Given the description of an element on the screen output the (x, y) to click on. 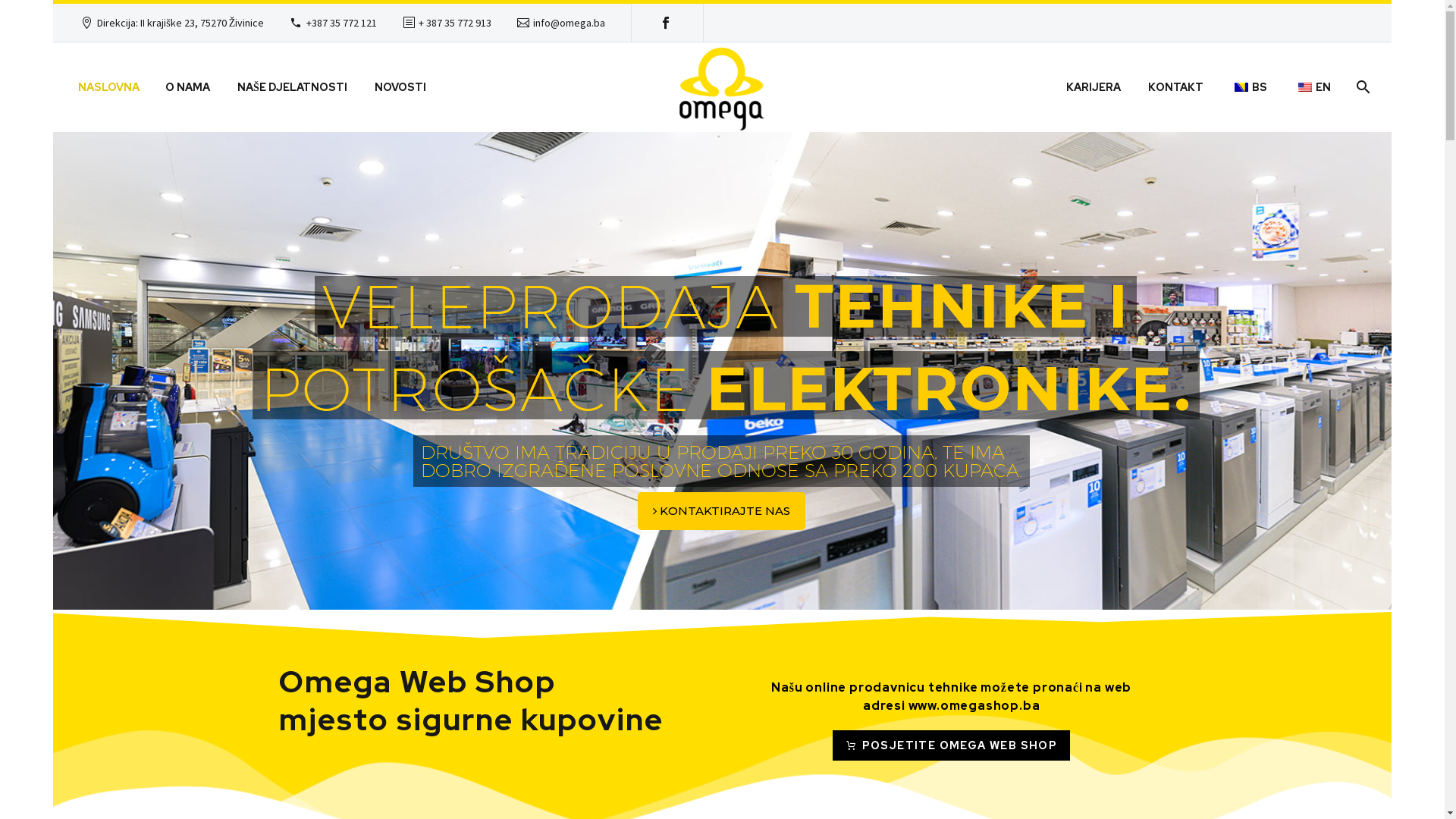
NASLOVNA Element type: text (108, 87)
BS Element type: text (1248, 87)
NOVOSTI Element type: text (400, 87)
Facebook Element type: hover (665, 22)
English Element type: hover (1304, 86)
+387 35 772 121 Element type: text (341, 22)
KONTAKTIRAJTE NAS Element type: text (721, 511)
info@omega.ba Element type: text (569, 22)
POSJETITE OMEGA WEB SHOP Element type: text (951, 745)
KARIJERA Element type: text (1093, 87)
KONTAKT Element type: text (1175, 87)
O NAMA Element type: text (187, 87)
EN Element type: text (1312, 87)
Bosnian Element type: hover (1241, 86)
